Given the description of an element on the screen output the (x, y) to click on. 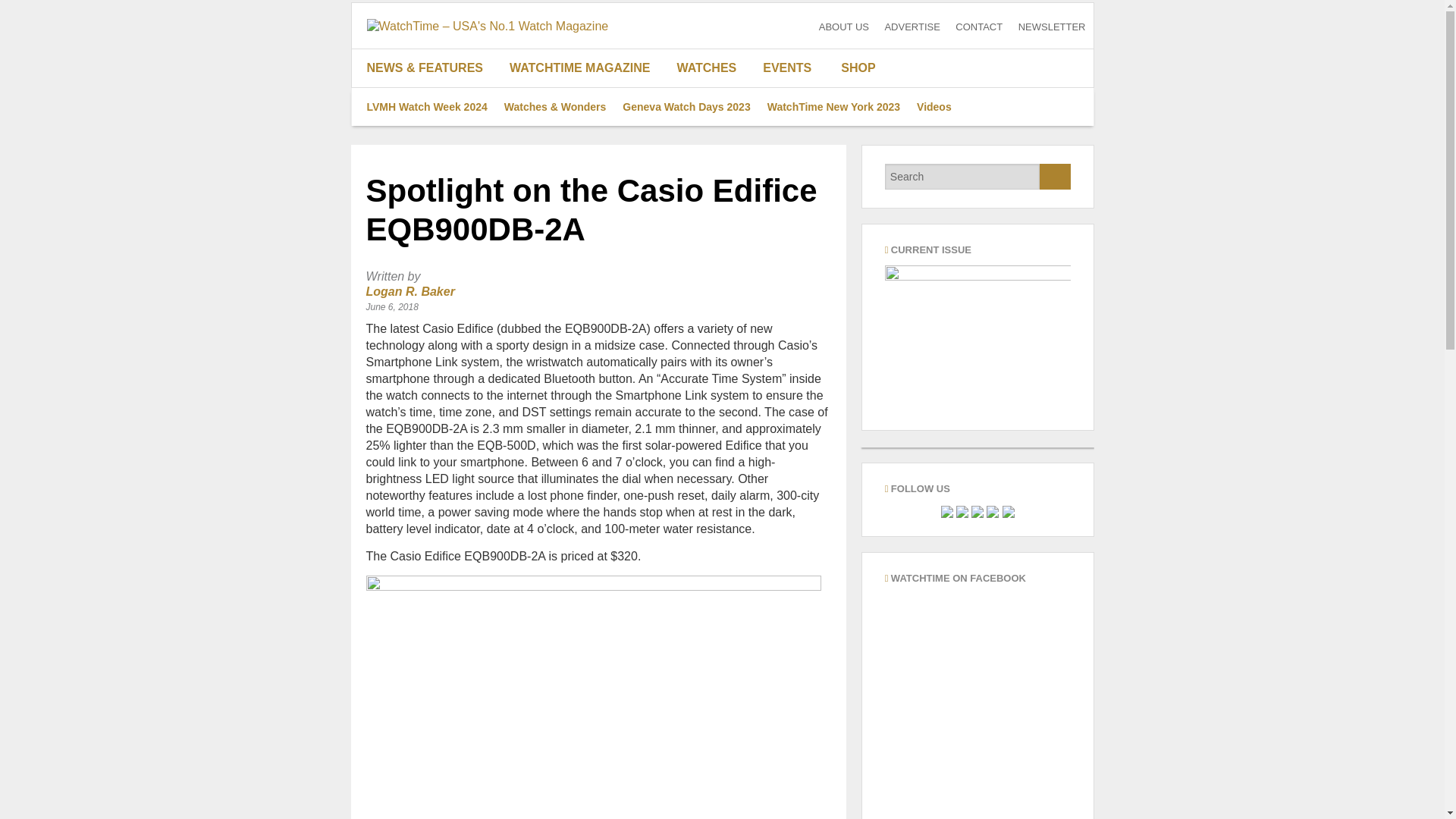
PRINT ARCHIVE (585, 143)
Geneva Watch Days 2023 (686, 106)
SHOP (848, 67)
WatchTime Shop (848, 67)
WATCHES (712, 67)
EVENTS (786, 67)
CONTACT (979, 26)
Current Issue (977, 338)
WATCH NEWS (430, 181)
WATCH FEATURES (430, 143)
WATCH TERM GLOSSARY (712, 181)
NEWSLETTER (1051, 26)
WATCHTIME MAGAZINE (585, 67)
ADVERTISE (911, 26)
Watch Brands (712, 105)
